Given the description of an element on the screen output the (x, y) to click on. 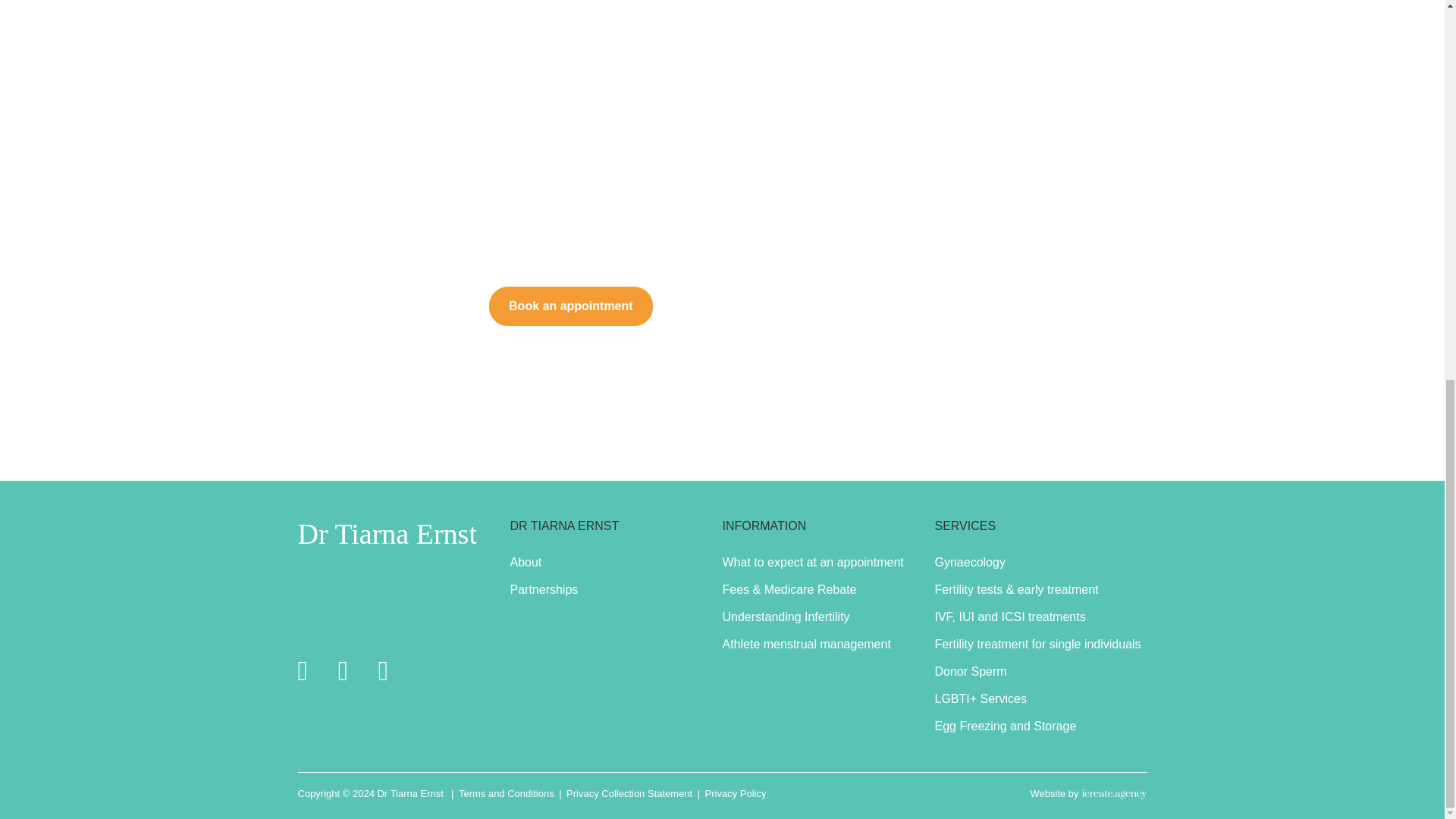
Partnerships (543, 589)
About (525, 562)
DR TIARNA ERNST (563, 525)
Book an appointment (570, 305)
Home (369, 793)
Call today! 1300 272 971 (386, 305)
